Given the description of an element on the screen output the (x, y) to click on. 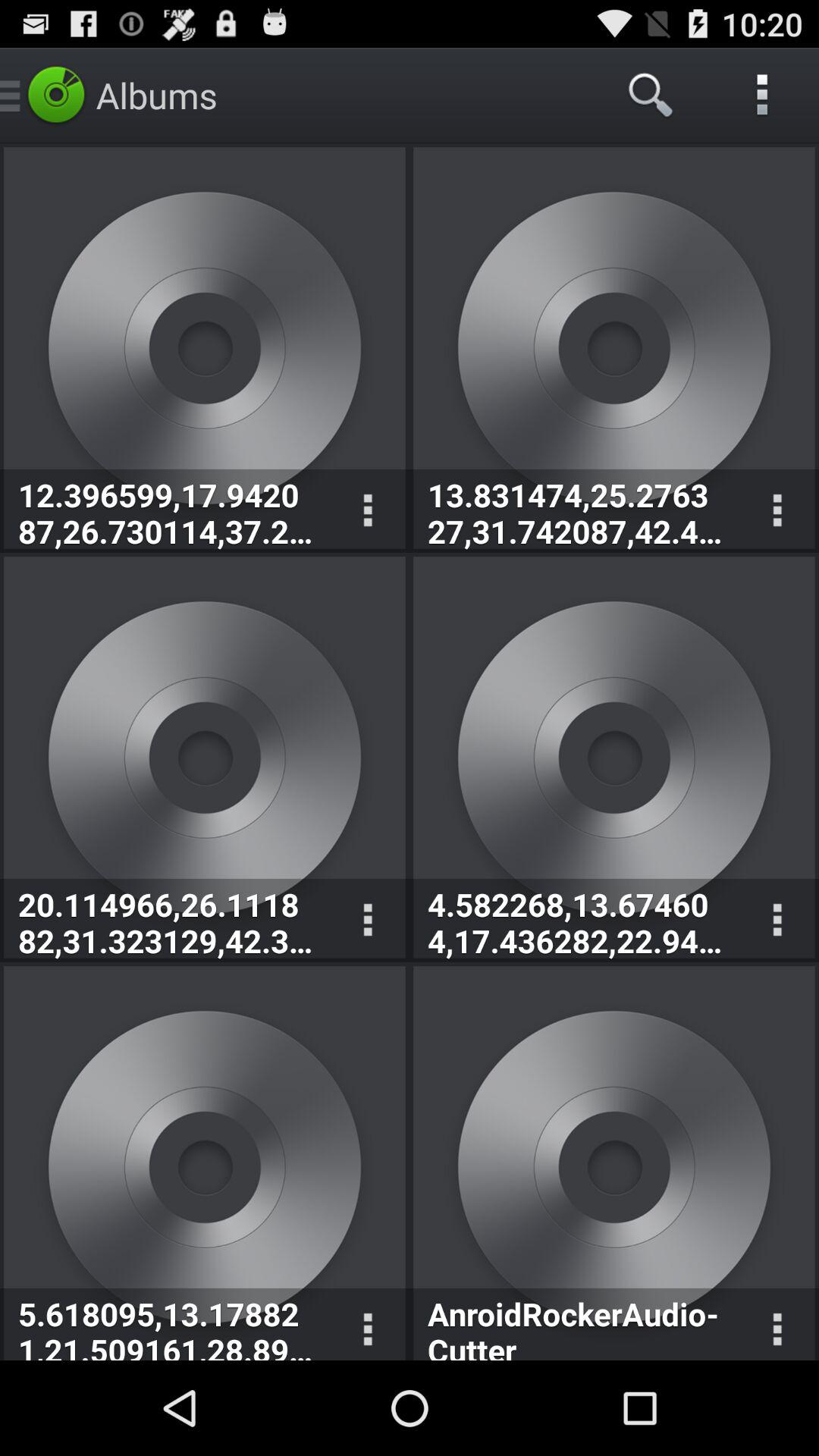
more info on cutter (777, 1324)
